Given the description of an element on the screen output the (x, y) to click on. 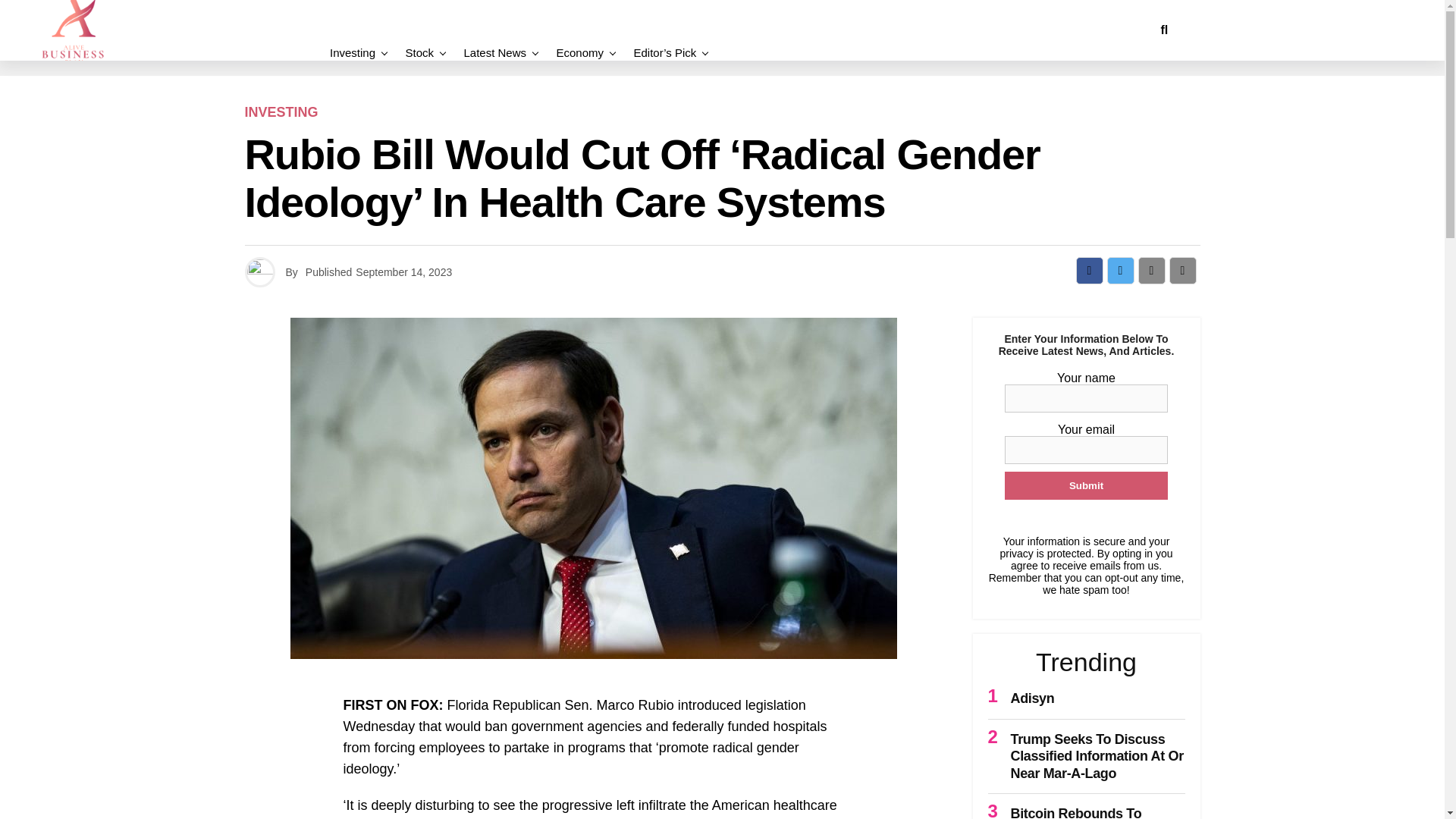
Share on Facebook (1088, 270)
Economy (579, 52)
INVESTING (280, 112)
Investing (356, 52)
Tweet This Post (1120, 270)
Latest News (494, 52)
Submit (1085, 485)
